Given the description of an element on the screen output the (x, y) to click on. 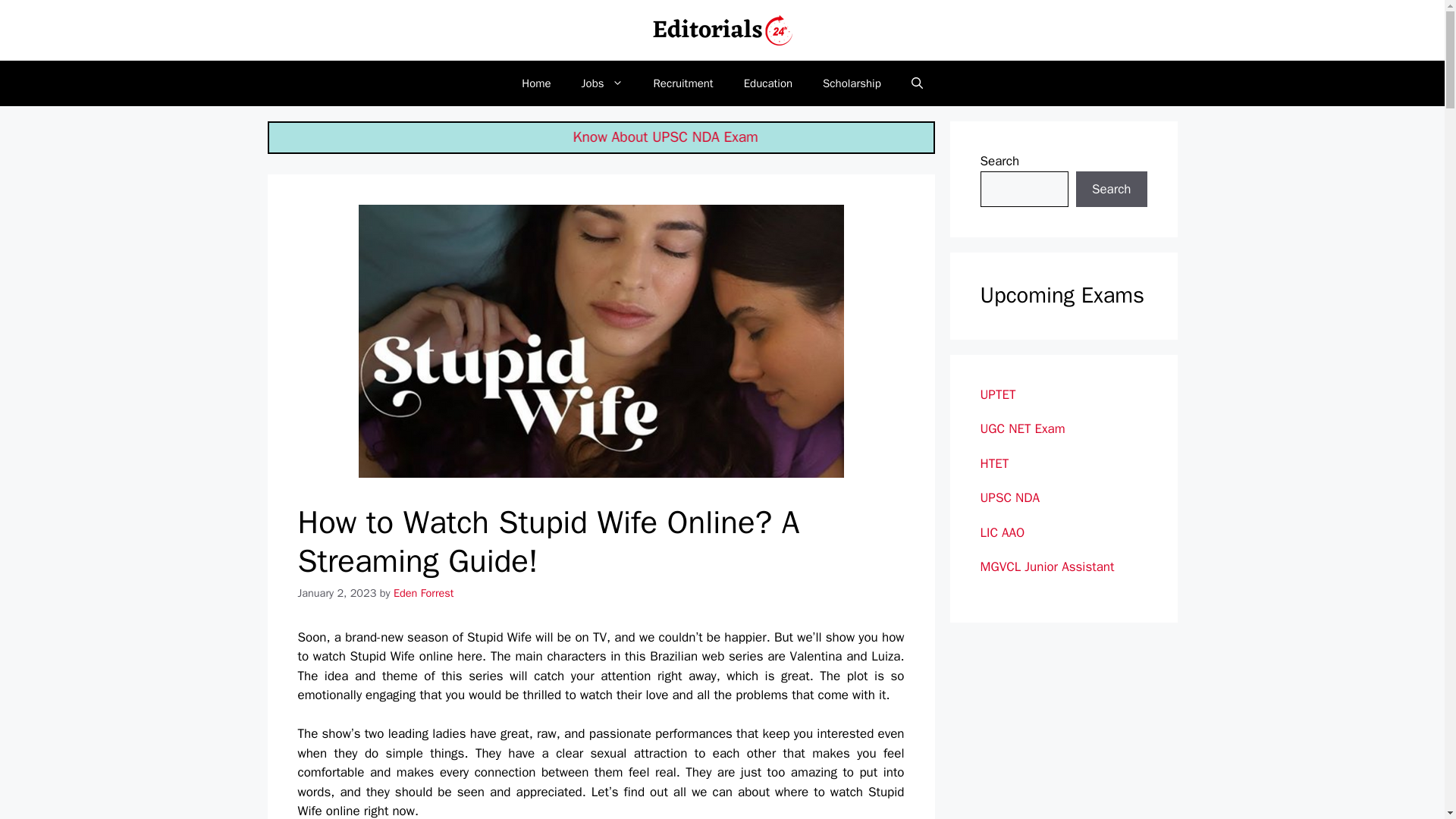
Home (536, 83)
View all posts by Eden Forrest (423, 592)
MGVCL Junior Assistant (1046, 566)
LIC AAO (1002, 532)
Education (768, 83)
Eden Forrest (423, 592)
UGC NET Exam (1021, 428)
UPTET (996, 394)
HTET (994, 463)
Search (1111, 189)
